Given the description of an element on the screen output the (x, y) to click on. 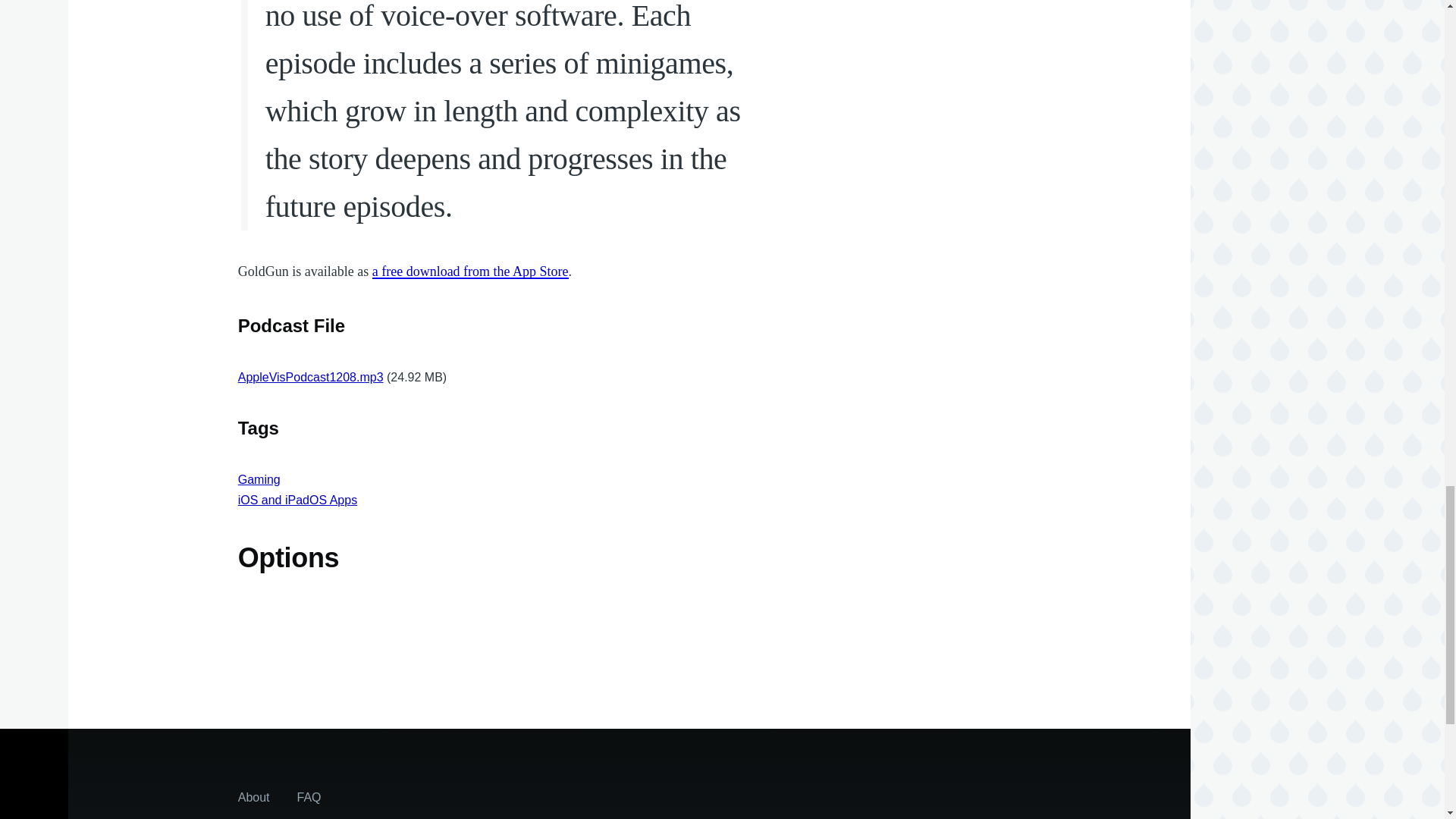
Gaming (259, 479)
a free download from the App Store (470, 271)
About (253, 796)
iOS and iPadOS Apps (297, 499)
AppleVisPodcast1208.mp3 (311, 377)
About (253, 796)
